Given the description of an element on the screen output the (x, y) to click on. 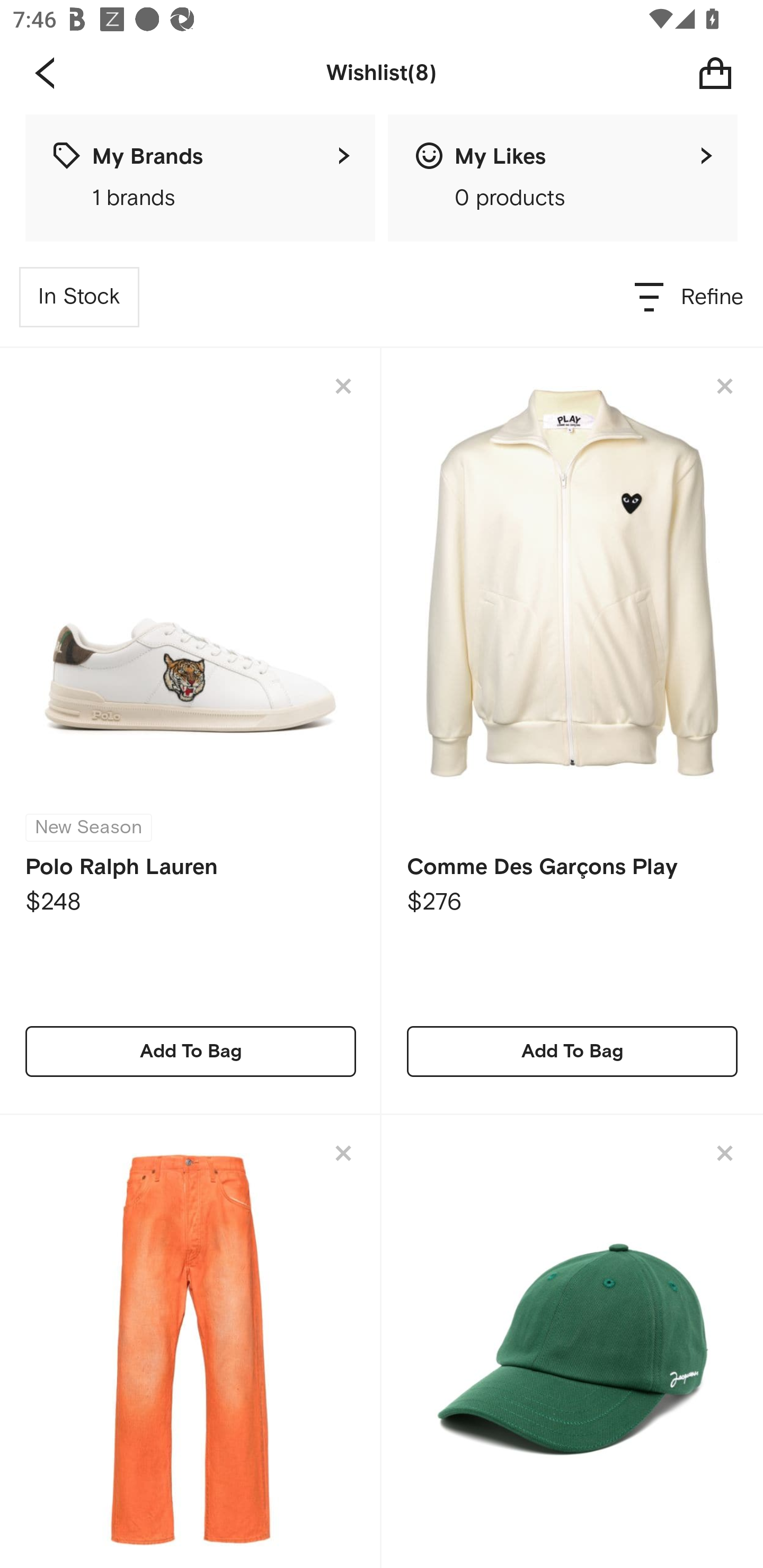
My Brands 1 brands (200, 177)
My Likes 0 products (562, 177)
In Stock (79, 296)
Refine (690, 296)
New Season Polo Ralph Lauren $248 Add To Bag (190, 731)
Comme Des Garçons Play $276 Add To Bag (572, 731)
Add To Bag (190, 1050)
Add To Bag (571, 1050)
